Given the description of an element on the screen output the (x, y) to click on. 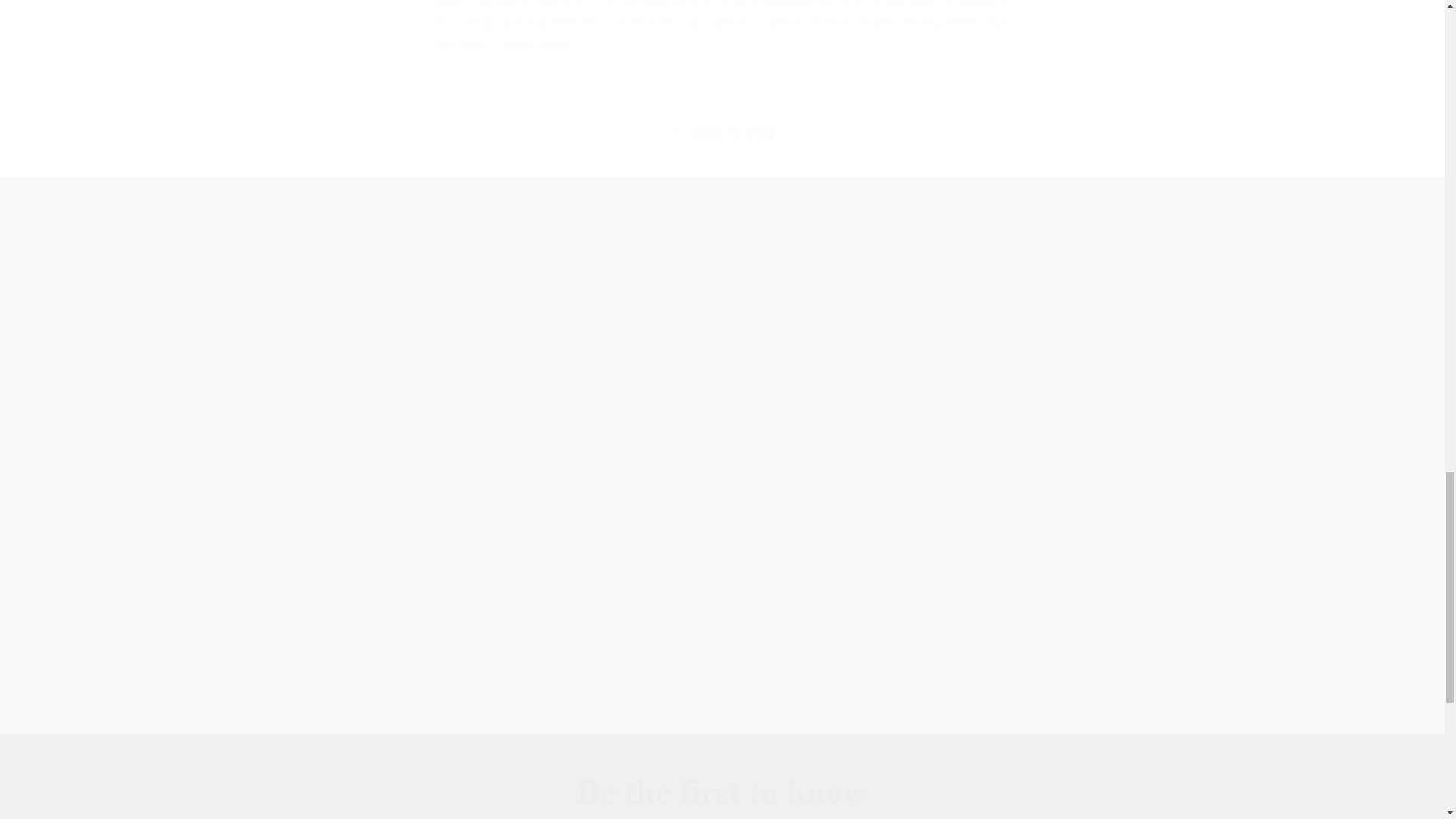
Be the first to know (722, 792)
Post comment (499, 702)
